Given the description of an element on the screen output the (x, y) to click on. 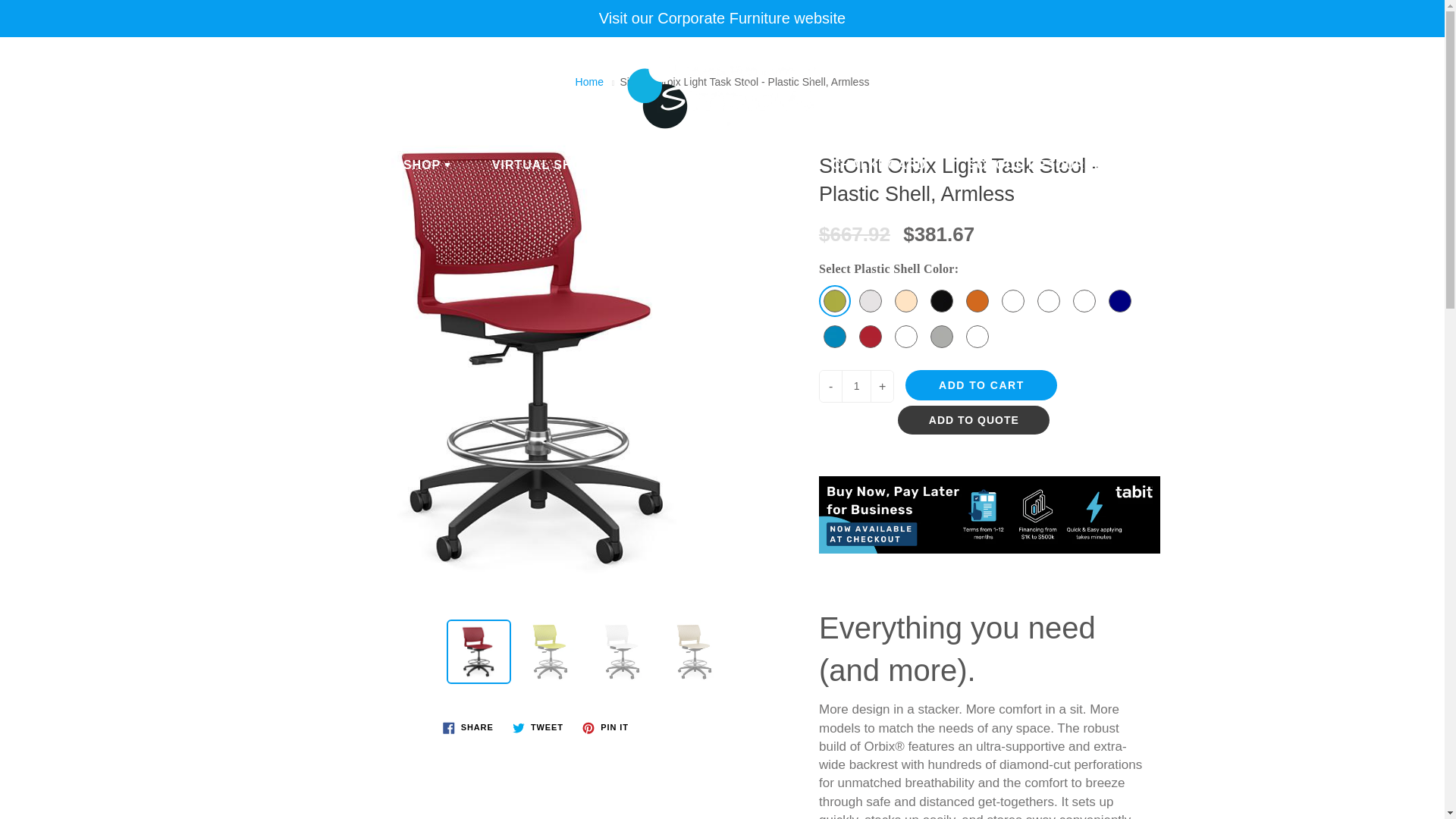
1 (855, 386)
SitOnIt Orbix Light Task Stool - Plastic Shell, Armless (478, 651)
SHOP (427, 165)
You have 0 items in your cart (1417, 63)
Search (28, 63)
Home (589, 81)
My account (1379, 63)
HOME (341, 165)
